Given the description of an element on the screen output the (x, y) to click on. 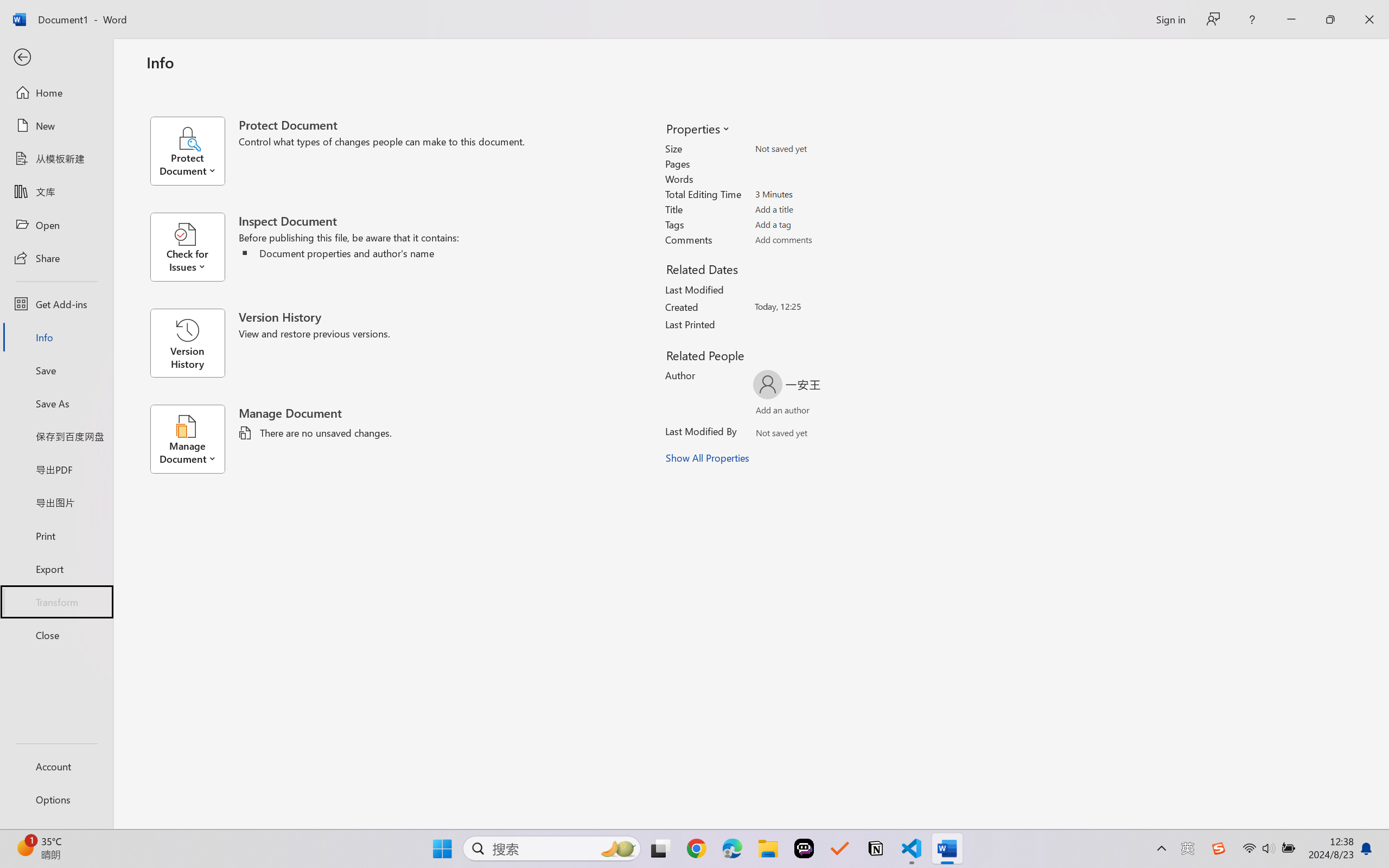
Words (818, 178)
Properties (696, 128)
Info (56, 337)
Add an author (772, 411)
Back (56, 57)
Protect Document (194, 150)
Save As (56, 403)
